Given the description of an element on the screen output the (x, y) to click on. 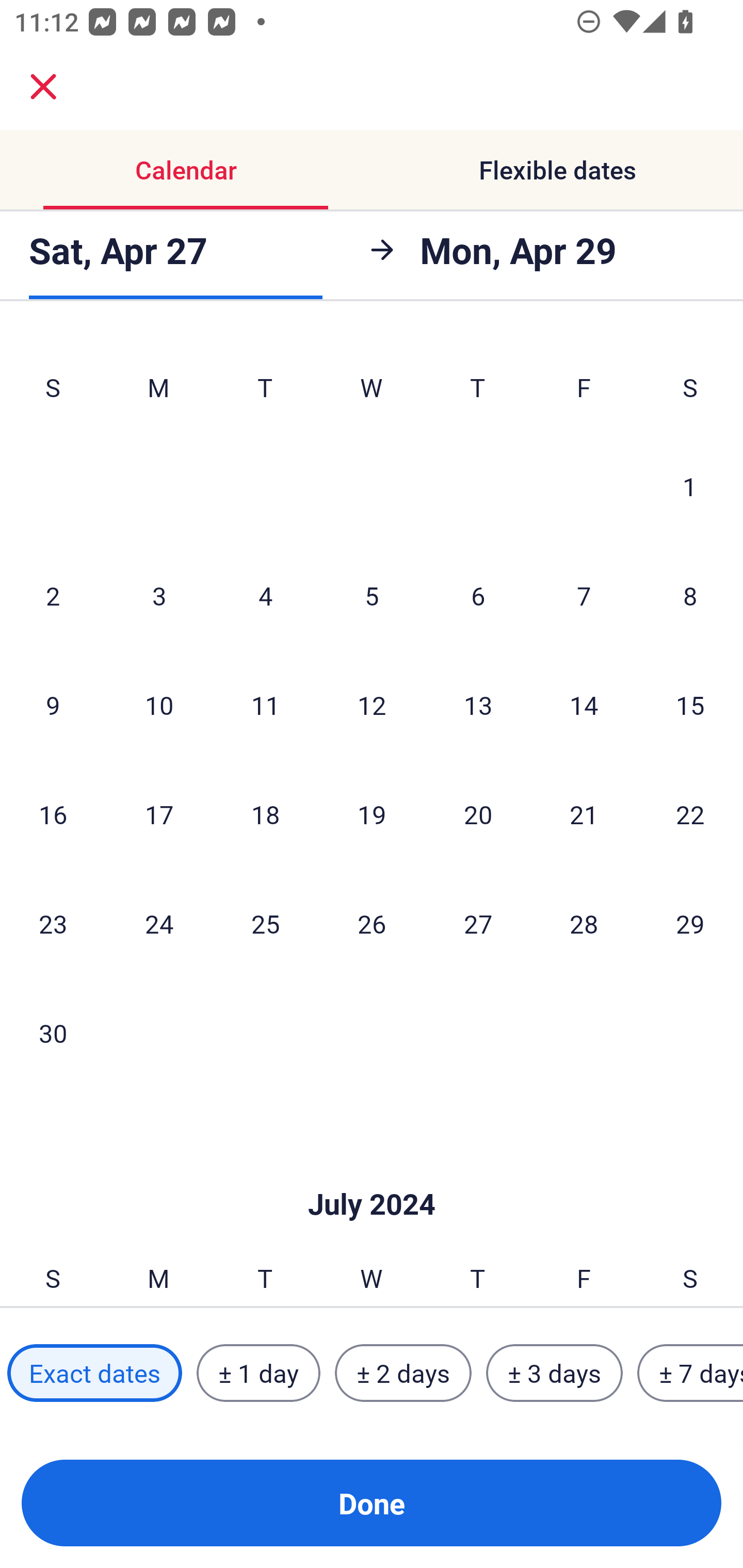
close. (43, 86)
Flexible dates (557, 170)
1 Saturday, June 1, 2024 (689, 485)
2 Sunday, June 2, 2024 (53, 594)
3 Monday, June 3, 2024 (159, 594)
4 Tuesday, June 4, 2024 (265, 594)
5 Wednesday, June 5, 2024 (371, 594)
6 Thursday, June 6, 2024 (477, 594)
7 Friday, June 7, 2024 (584, 594)
8 Saturday, June 8, 2024 (690, 594)
9 Sunday, June 9, 2024 (53, 704)
10 Monday, June 10, 2024 (159, 704)
11 Tuesday, June 11, 2024 (265, 704)
12 Wednesday, June 12, 2024 (371, 704)
13 Thursday, June 13, 2024 (477, 704)
14 Friday, June 14, 2024 (584, 704)
15 Saturday, June 15, 2024 (690, 704)
16 Sunday, June 16, 2024 (53, 814)
17 Monday, June 17, 2024 (159, 814)
18 Tuesday, June 18, 2024 (265, 814)
19 Wednesday, June 19, 2024 (371, 814)
20 Thursday, June 20, 2024 (477, 814)
21 Friday, June 21, 2024 (584, 814)
22 Saturday, June 22, 2024 (690, 814)
23 Sunday, June 23, 2024 (53, 923)
24 Monday, June 24, 2024 (159, 923)
25 Tuesday, June 25, 2024 (265, 923)
26 Wednesday, June 26, 2024 (371, 923)
27 Thursday, June 27, 2024 (477, 923)
28 Friday, June 28, 2024 (584, 923)
29 Saturday, June 29, 2024 (690, 923)
30 Sunday, June 30, 2024 (53, 1032)
Skip to Done (371, 1173)
Exact dates (94, 1372)
± 1 day (258, 1372)
± 2 days (403, 1372)
± 3 days (553, 1372)
± 7 days (690, 1372)
Done (371, 1502)
